Given the description of an element on the screen output the (x, y) to click on. 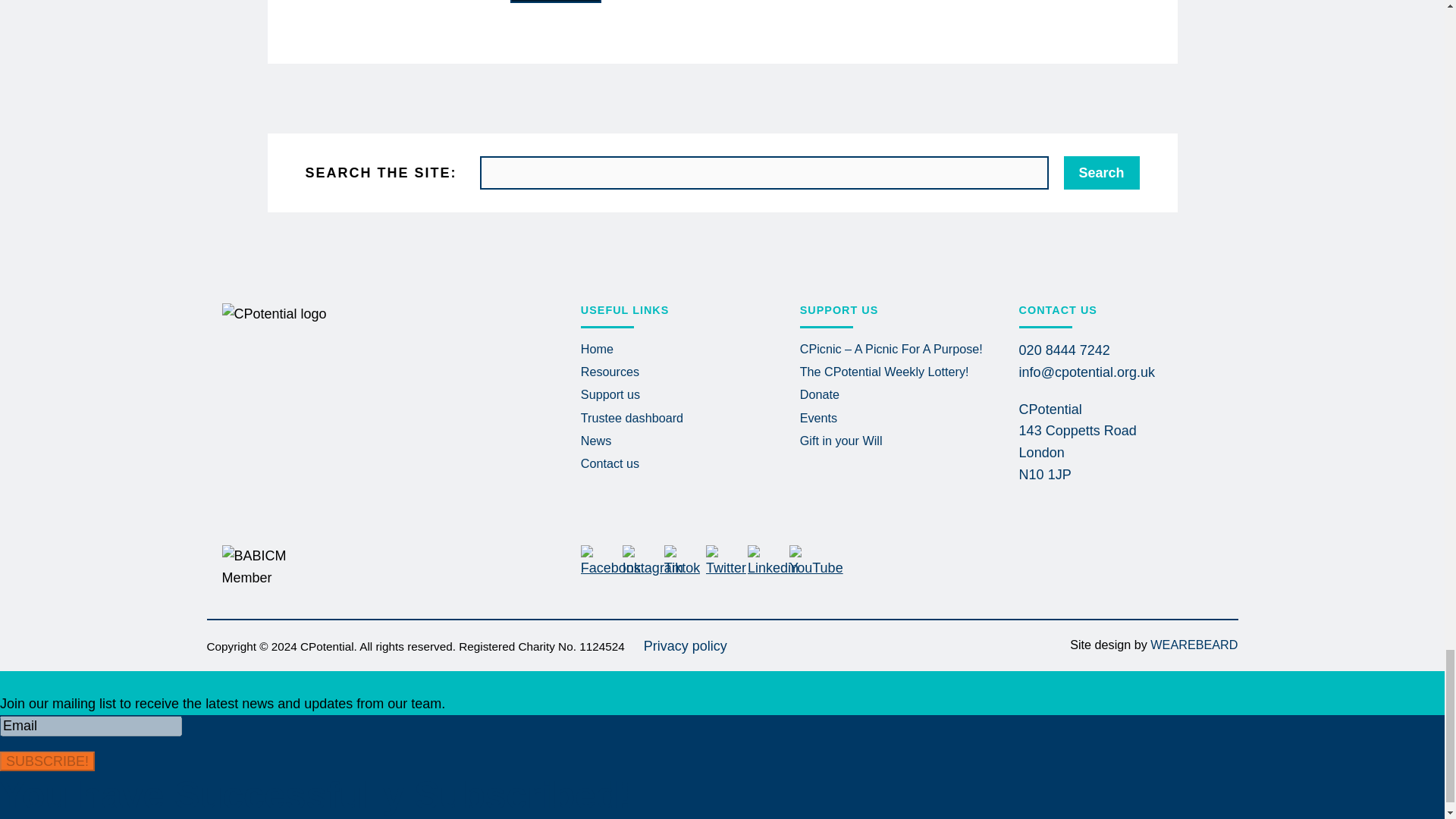
Call: 020 8444 7242 (1064, 350)
Subscribe (554, 1)
Search (1100, 172)
